Given the description of an element on the screen output the (x, y) to click on. 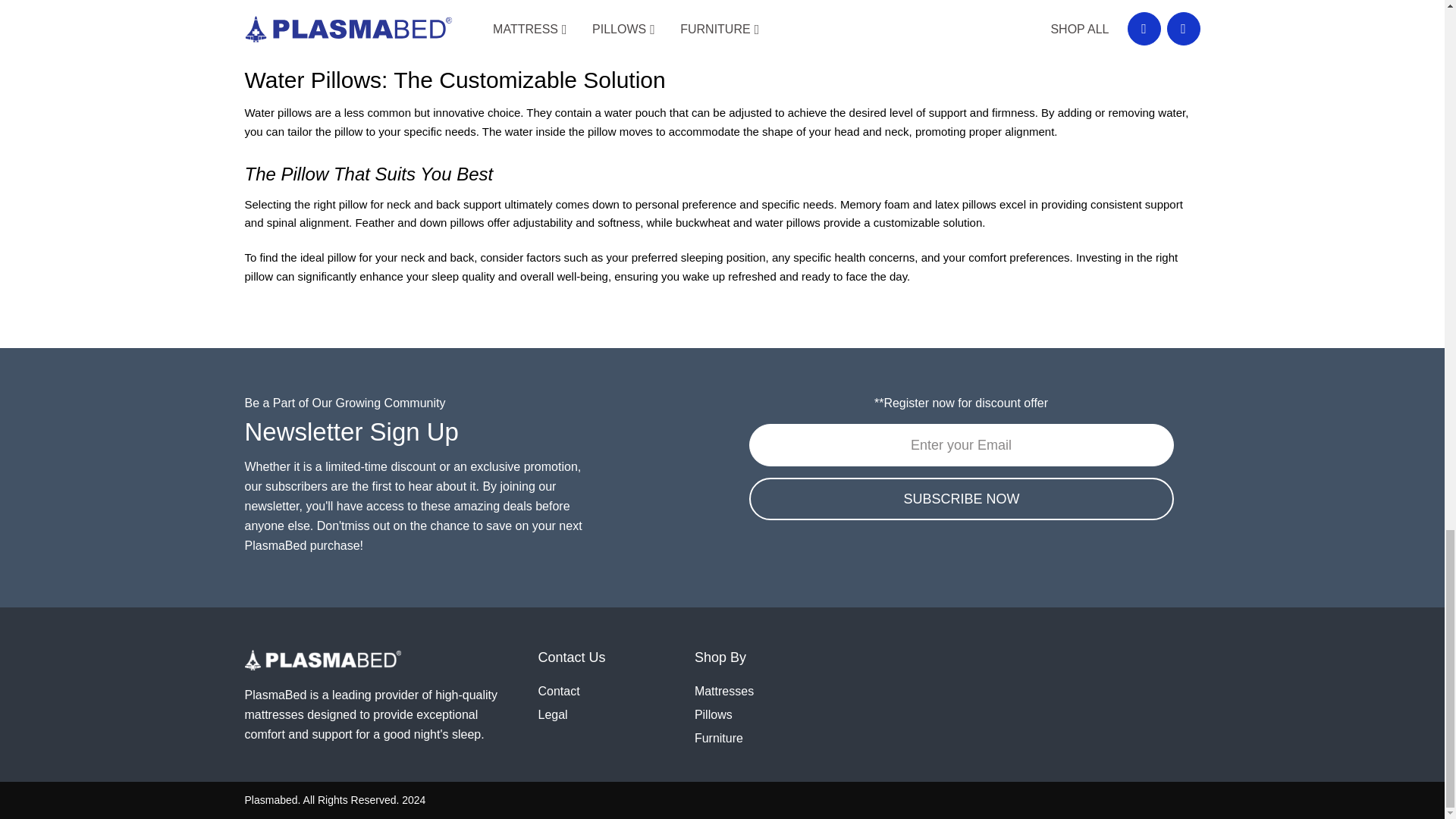
 SUBSCRIBE NOW (961, 498)
Legal (552, 714)
 SUBSCRIBE NOW (961, 498)
Contact (558, 690)
